Given the description of an element on the screen output the (x, y) to click on. 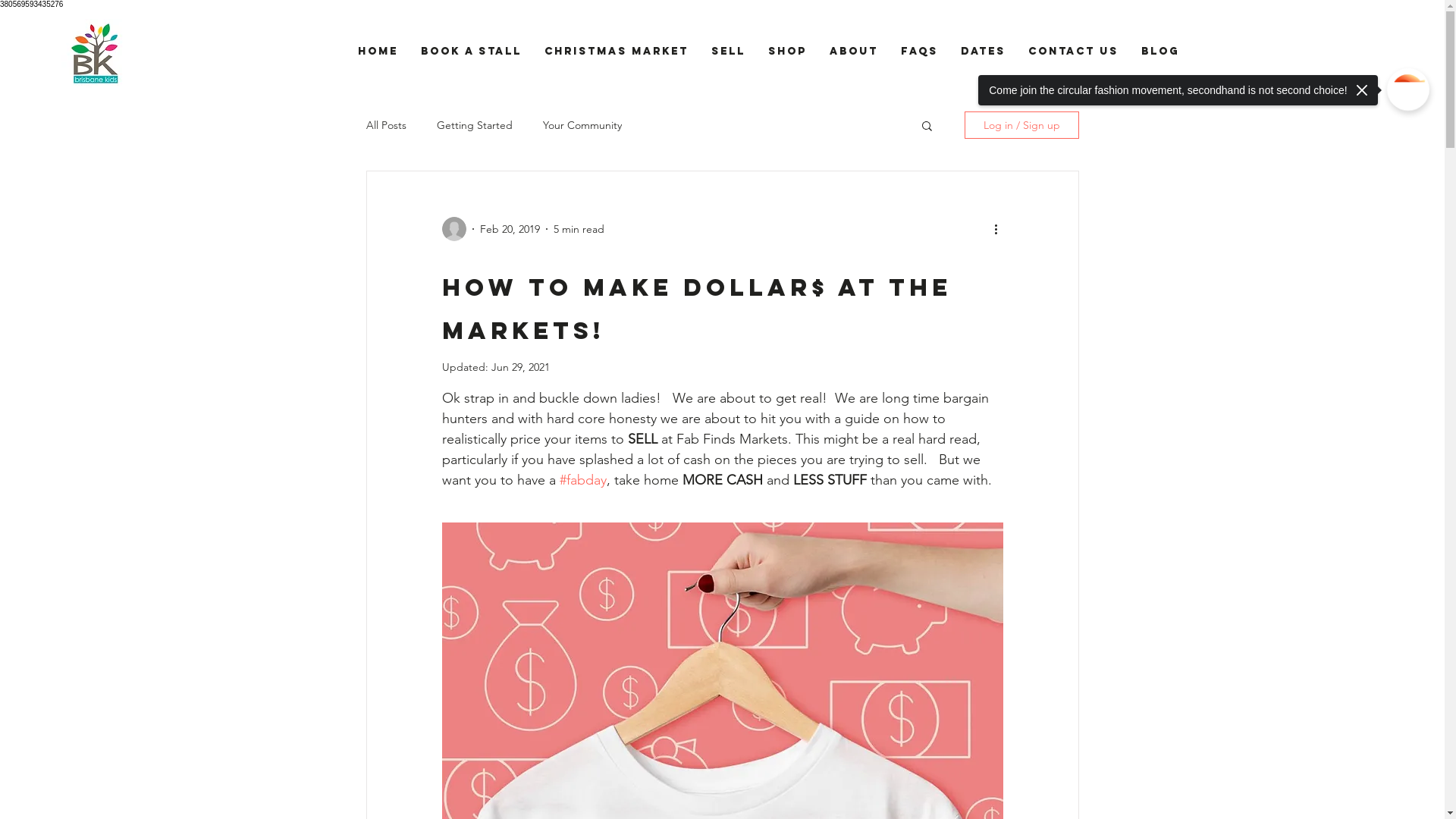
FAQS Element type: text (918, 51)
DATES Element type: text (982, 51)
Your Community Element type: text (581, 124)
SELL Element type: text (727, 51)
Home Element type: text (376, 51)
BK NEW LOGO profile pic.jpg Element type: hover (94, 52)
Blog Element type: text (1159, 51)
Getting Started Element type: text (474, 124)
Book A Stall Element type: text (471, 51)
All Posts Element type: text (385, 124)
CHRISTMAS MARKET Element type: text (615, 51)
#fabday Element type: text (582, 479)
SHOP Element type: text (787, 51)
Contact Us Element type: text (1072, 51)
Log in / Sign up Element type: text (1021, 124)
About Element type: text (852, 51)
